Given the description of an element on the screen output the (x, y) to click on. 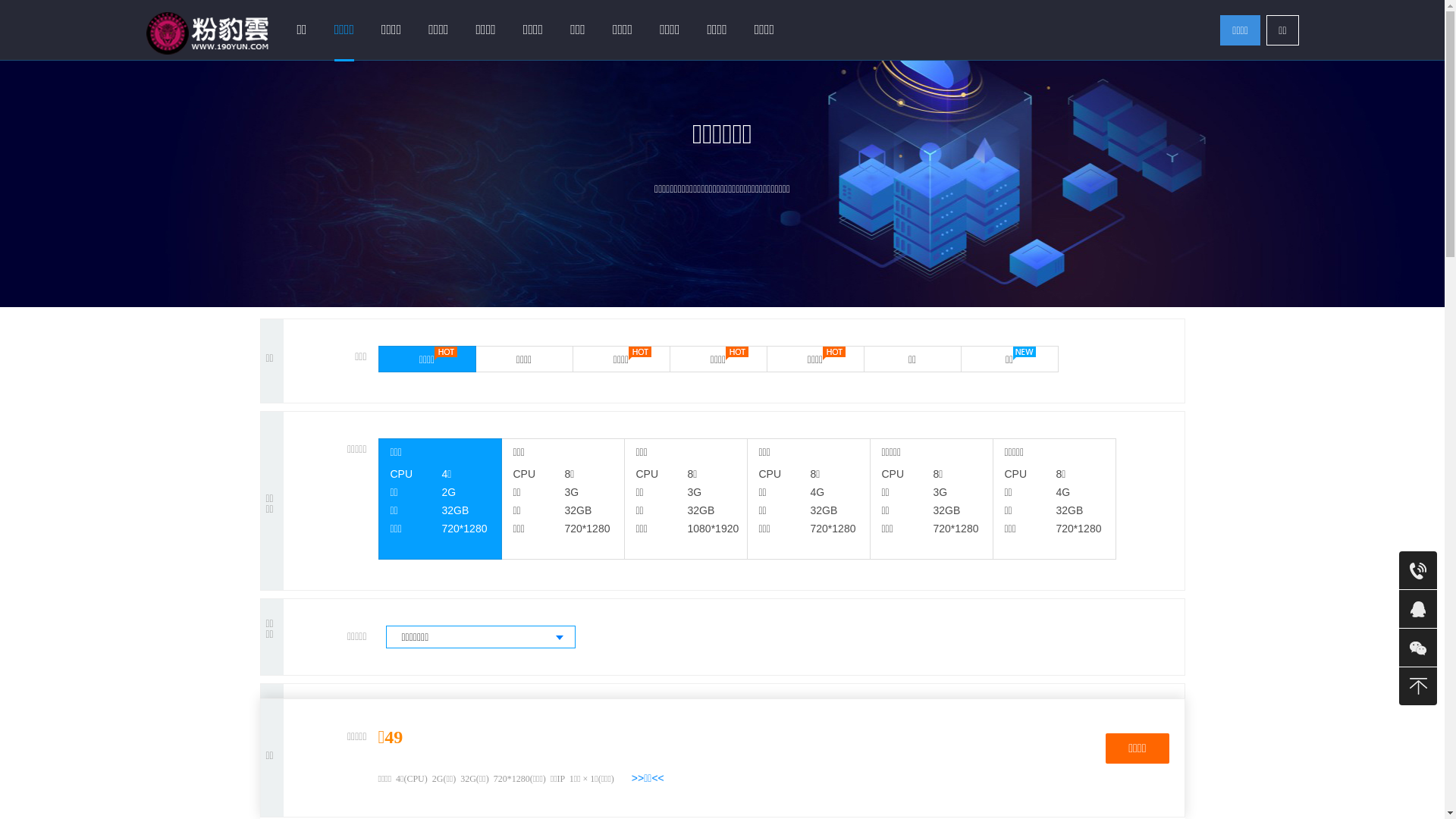
3 Element type: text (468, 723)
6 Element type: text (527, 723)
